Given the description of an element on the screen output the (x, y) to click on. 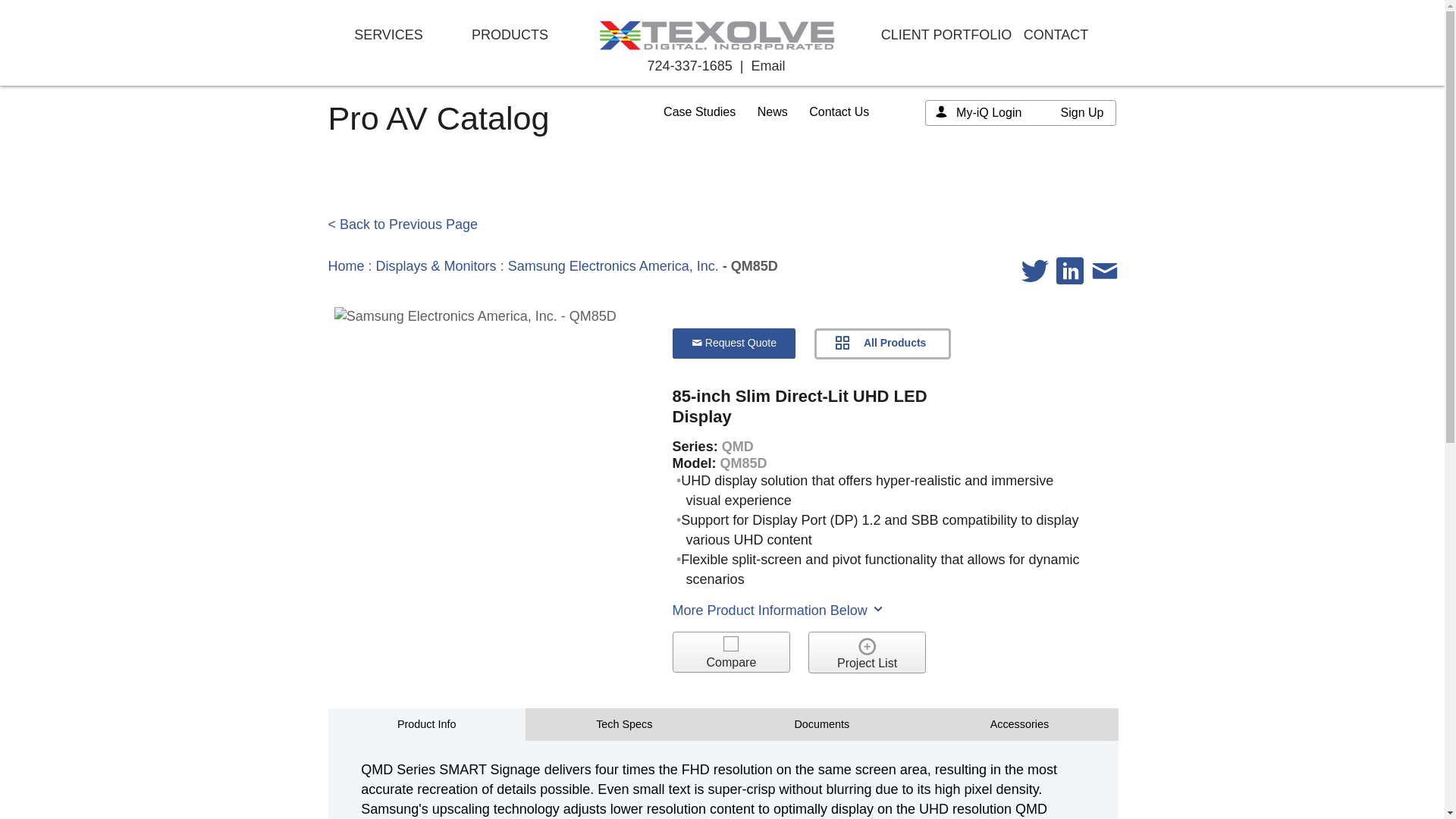
Contact Us (839, 111)
My-iQ Login (989, 112)
CLIENT PORTFOLIO (945, 35)
CONTACT (1055, 34)
Sign Up (1082, 112)
News (772, 111)
Case Studies (699, 111)
Samsung Electronics America, Inc. (613, 265)
Email (767, 65)
Home (345, 265)
